Given the description of an element on the screen output the (x, y) to click on. 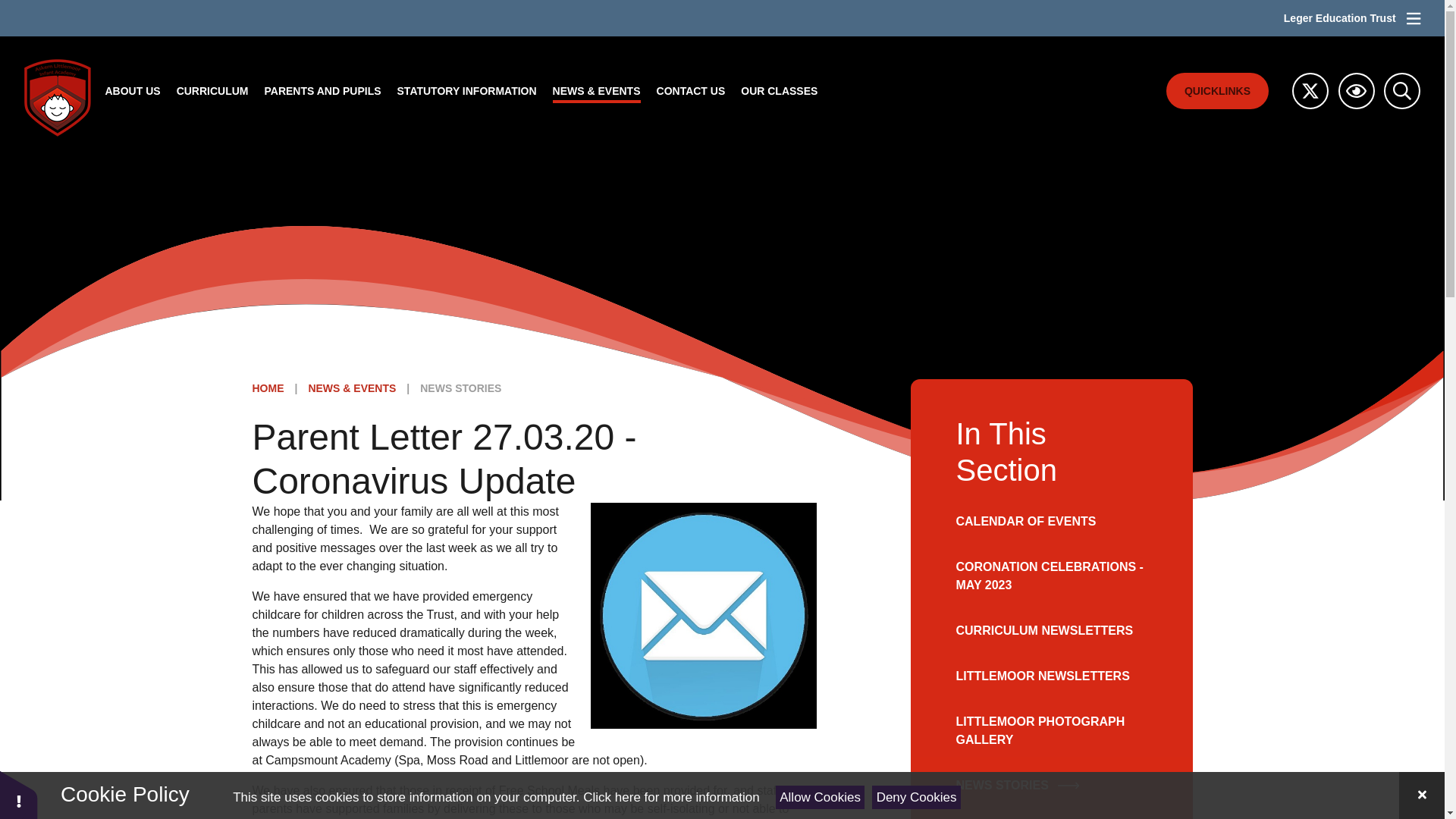
See cookie policy (670, 797)
Deny Cookies (915, 797)
Allow Cookies (820, 797)
ABOUT US (132, 90)
